Given the description of an element on the screen output the (x, y) to click on. 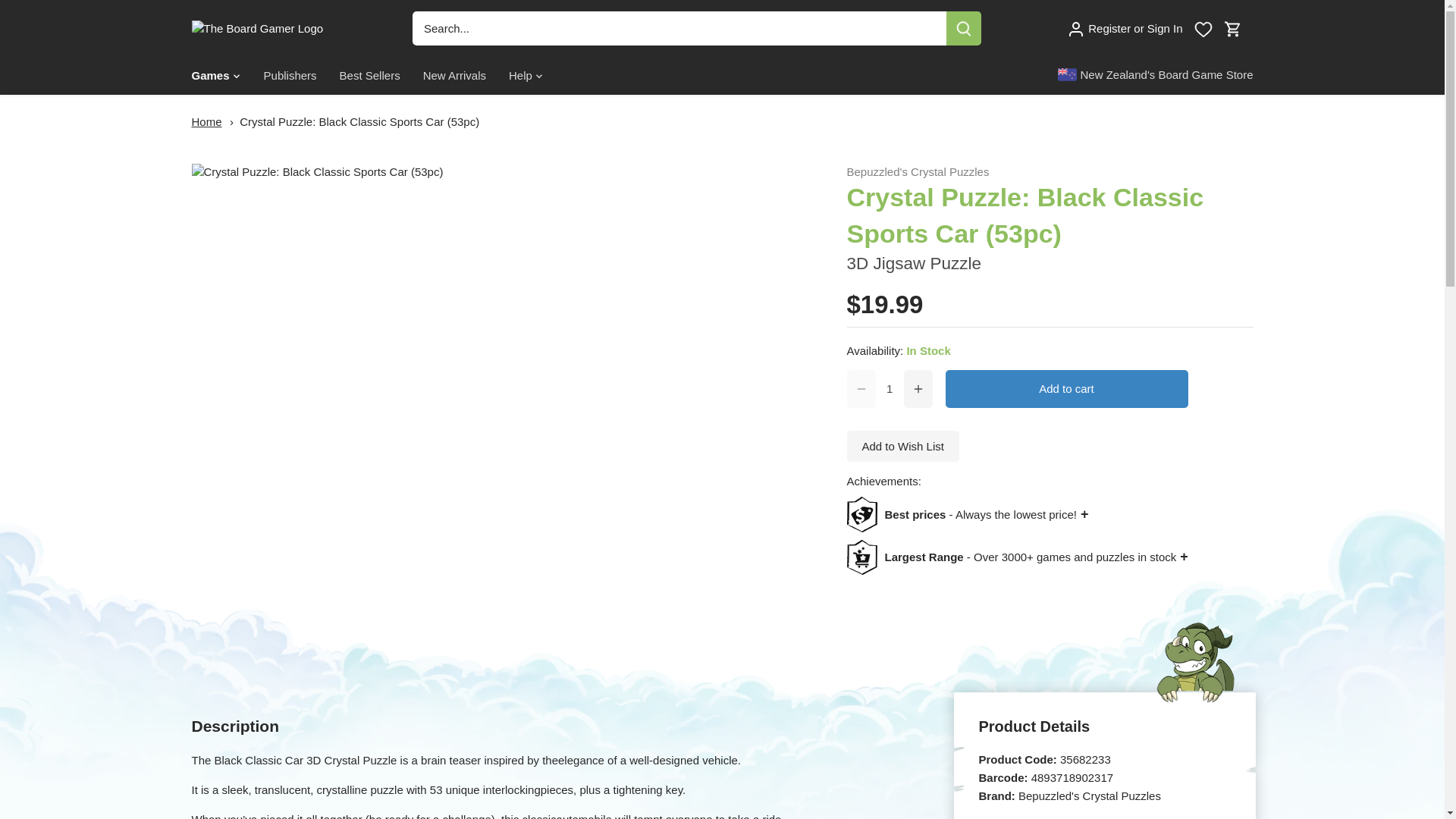
Home (205, 121)
Home (205, 121)
Register or Sign In (1124, 28)
Add to Wish List (901, 445)
Help (520, 75)
Add to cart (1066, 388)
Best Sellers (370, 75)
Bepuzzled's Crystal Puzzles (916, 171)
Games (215, 75)
New Arrivals (454, 75)
1 (889, 388)
Publishers (290, 75)
